Given the description of an element on the screen output the (x, y) to click on. 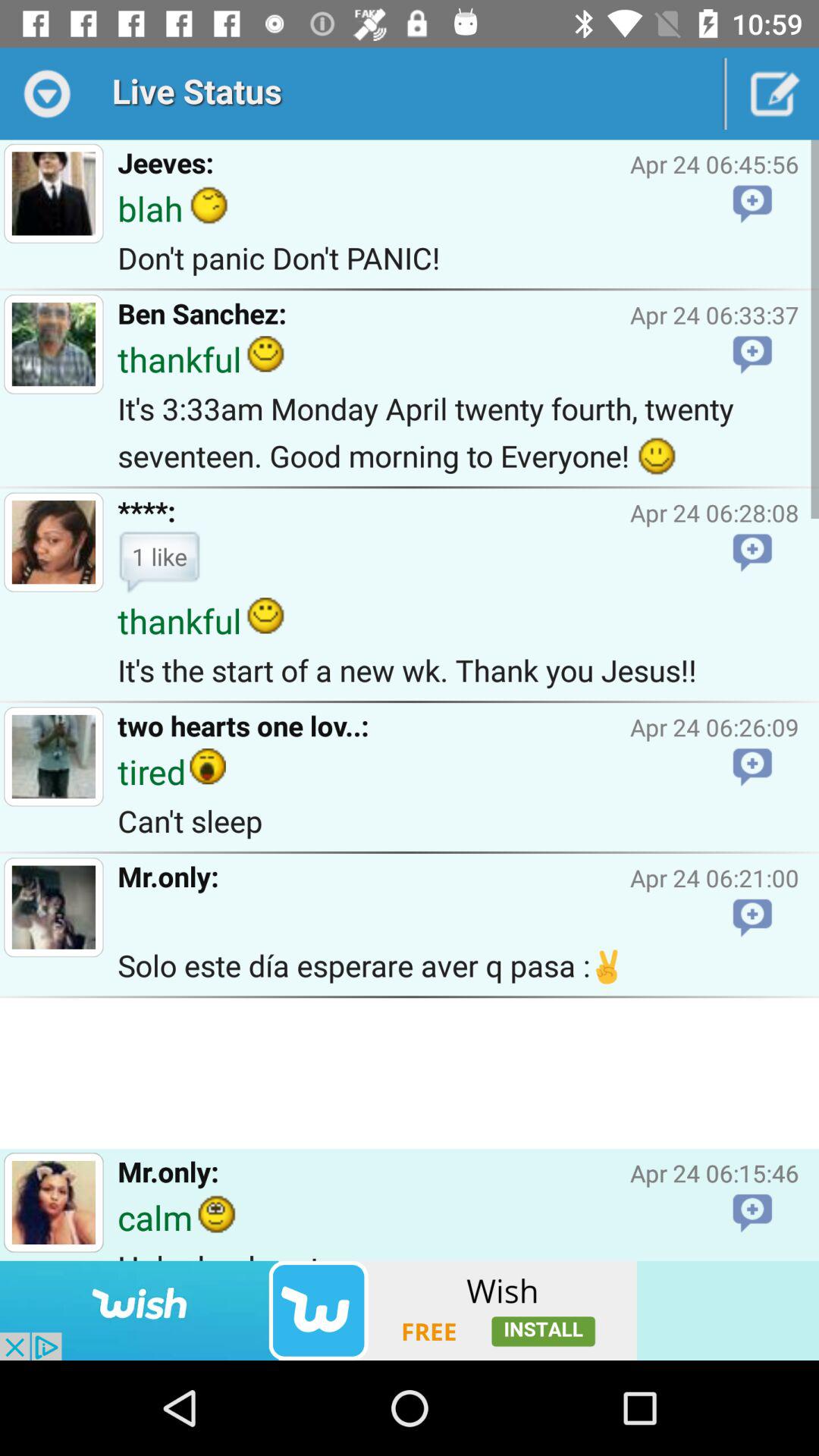
click on the below live status (54, 193)
click on the like button which is visible as plus button (752, 553)
